Given the description of an element on the screen output the (x, y) to click on. 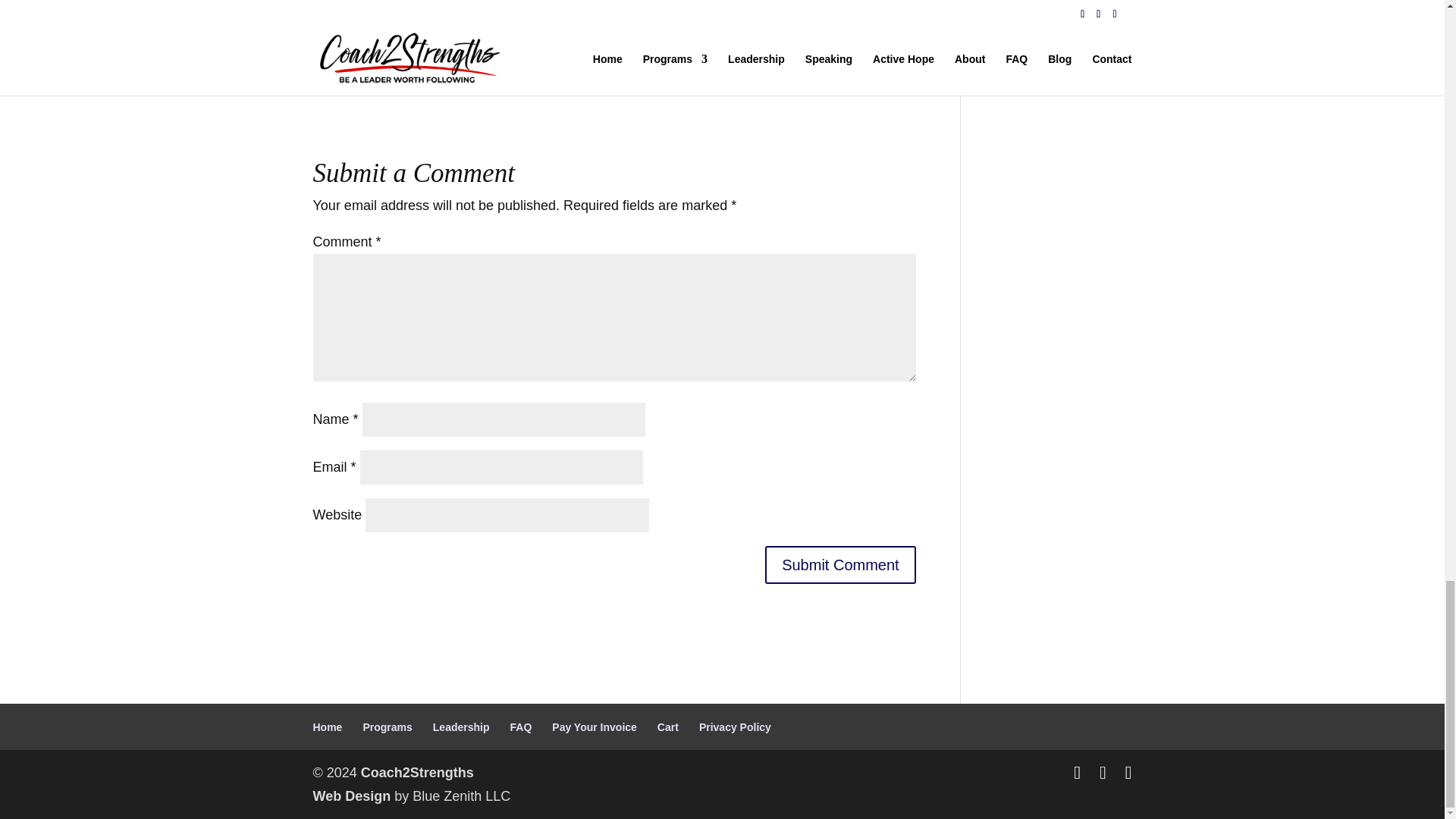
Submit Comment (840, 564)
Custom Branding and Web Design, Denver, Centennial, Colorado (351, 795)
Submit Comment (840, 564)
